Given the description of an element on the screen output the (x, y) to click on. 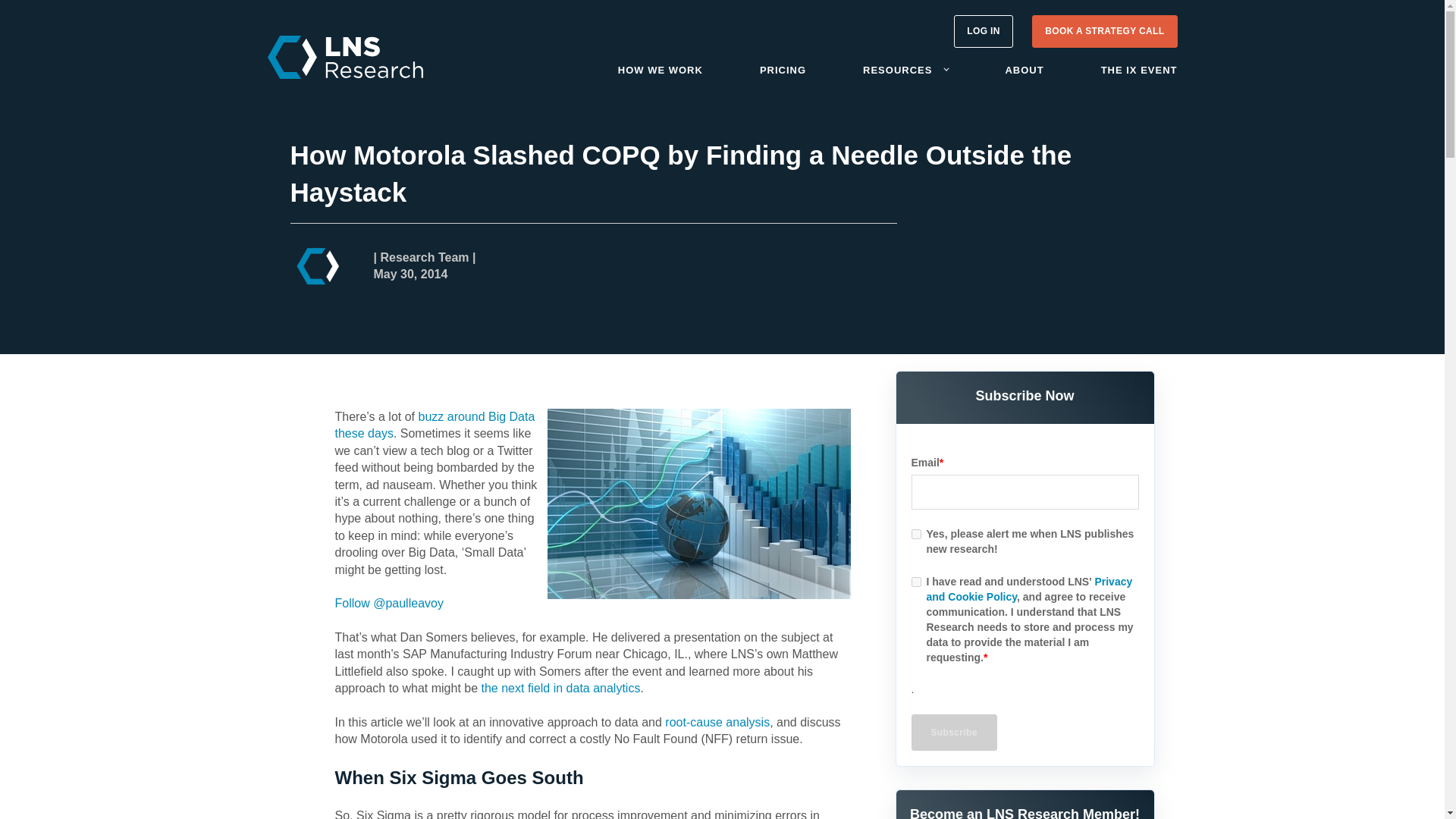
LNS Research Logo for Web (344, 56)
Log in (983, 31)
Book A Strategy Call (1104, 31)
Subscribe (954, 732)
BOOK A STRATEGY CALL (1104, 31)
true (916, 533)
true (916, 582)
RESOURCES (897, 70)
THE IX EVENT (1138, 70)
Subscribe (954, 732)
